Given the description of an element on the screen output the (x, y) to click on. 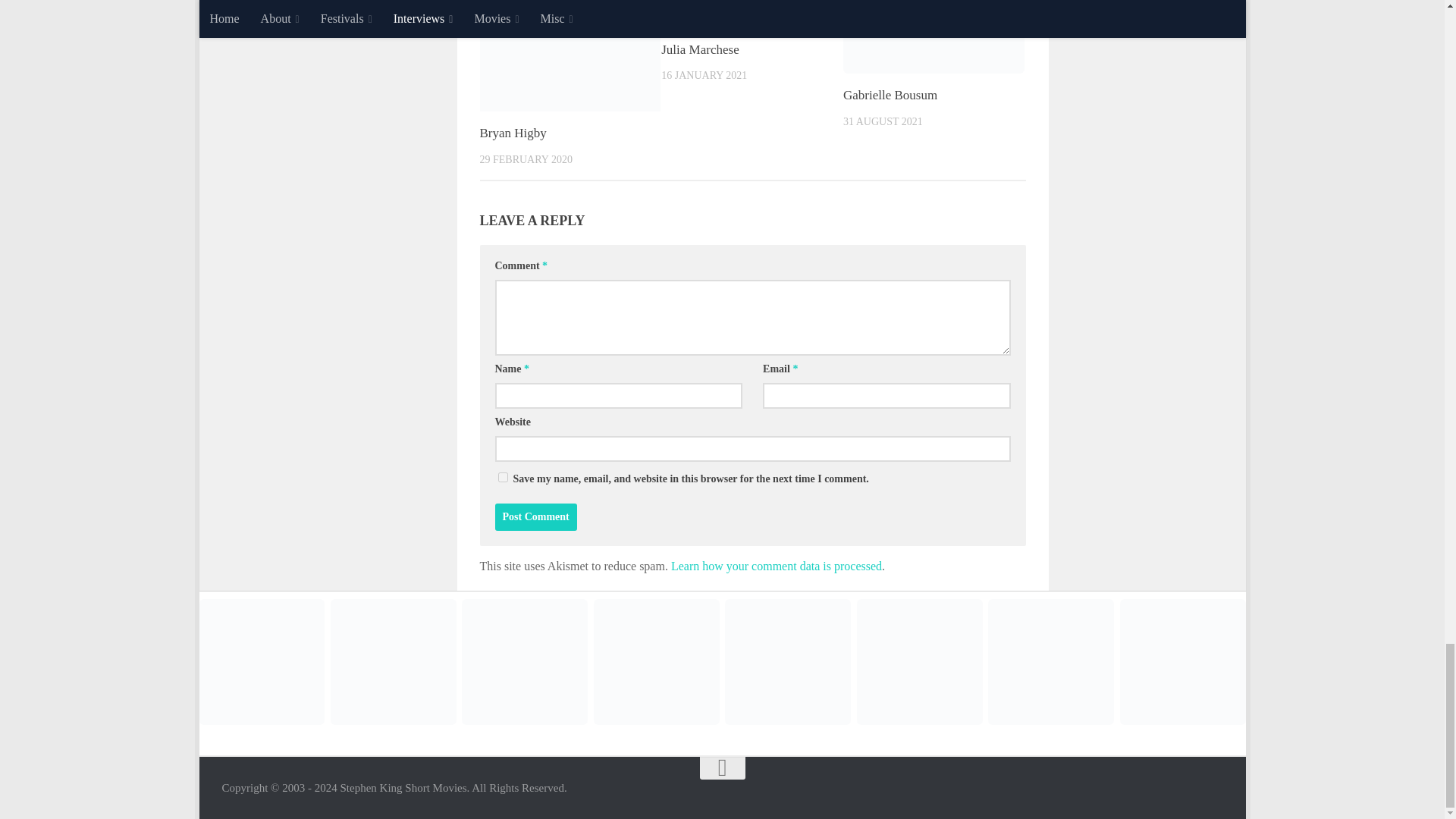
Post Comment (535, 516)
yes (501, 477)
